Given the description of an element on the screen output the (x, y) to click on. 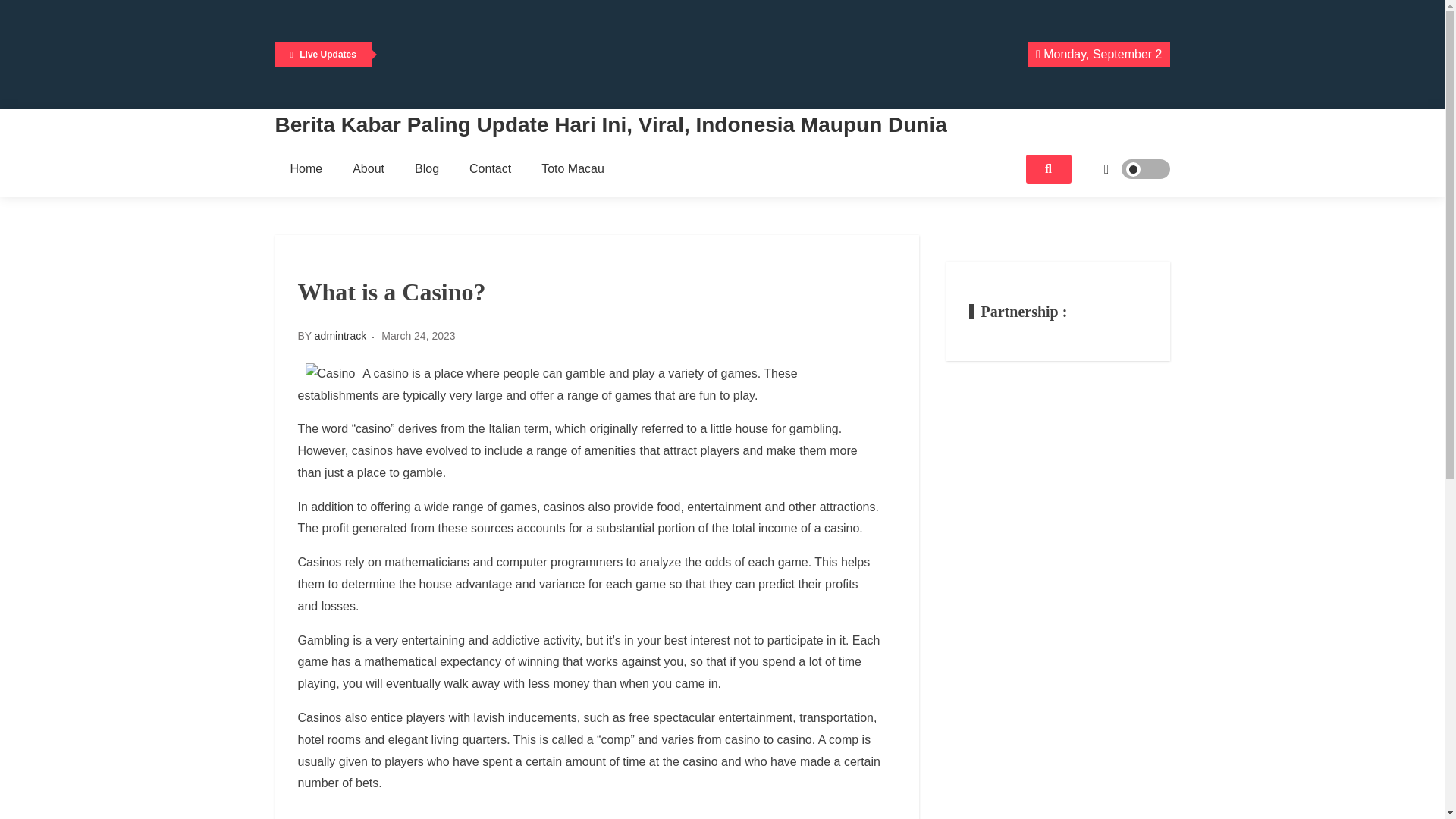
Blog (426, 168)
Toto Macau (572, 168)
Contact (489, 168)
Home (306, 168)
About (367, 168)
March 24, 2023 (417, 336)
admintrack (340, 336)
